Given the description of an element on the screen output the (x, y) to click on. 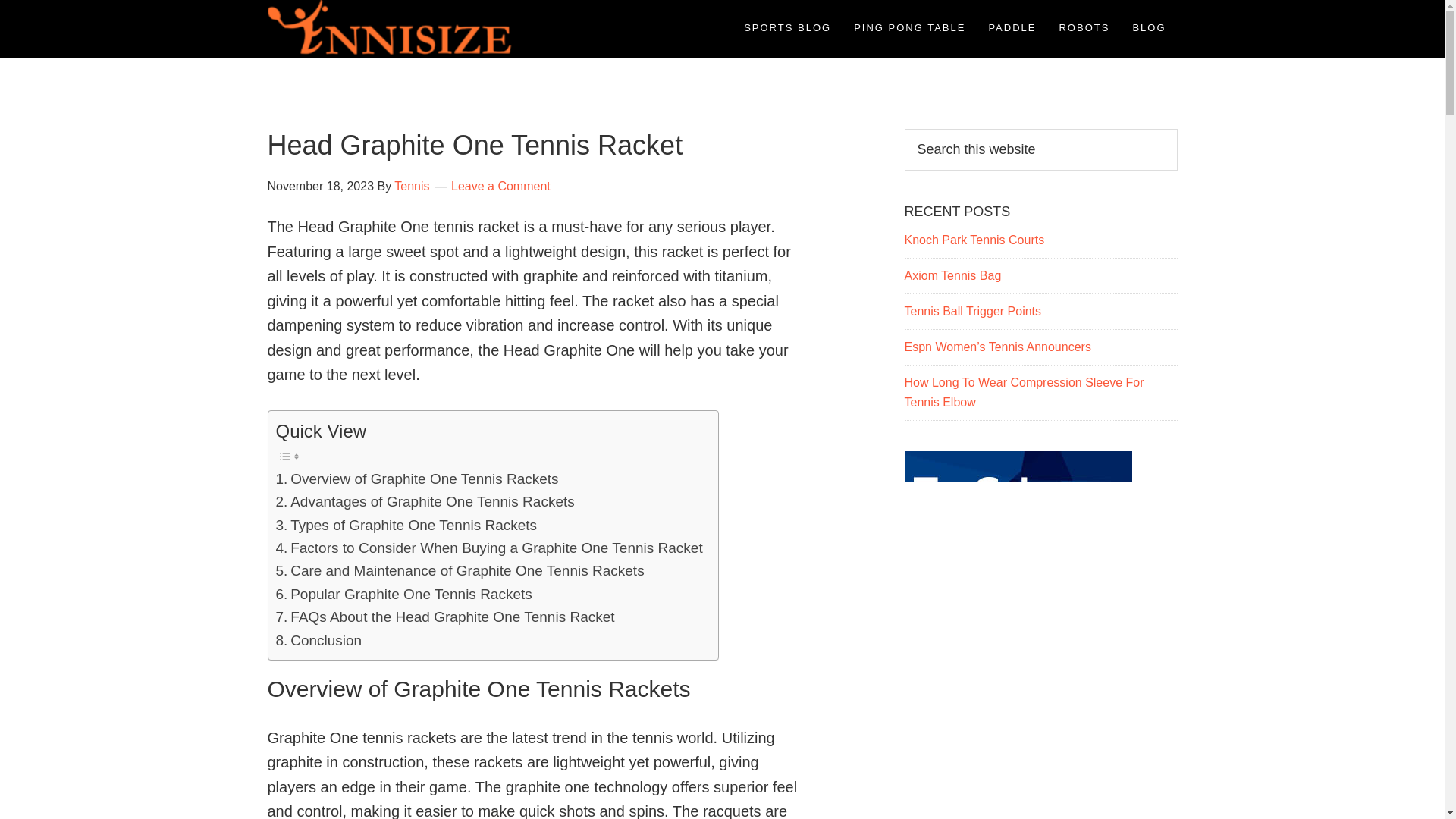
 Care and Maintenance of Graphite One Tennis Rackets  (460, 570)
Popular Graphite One Tennis Rackets (404, 594)
Care and Maintenance of Graphite One Tennis Rackets (460, 570)
Leave a Comment (500, 185)
FAQs About the Head Graphite One Tennis Racket (445, 617)
Axiom Tennis Bag (952, 275)
Conclusion (319, 640)
Overview of Graphite One Tennis Rackets (417, 478)
ROBOTS (1083, 27)
 Popular Graphite One Tennis Rackets  (404, 594)
SPORTS BLOG (787, 27)
